Given the description of an element on the screen output the (x, y) to click on. 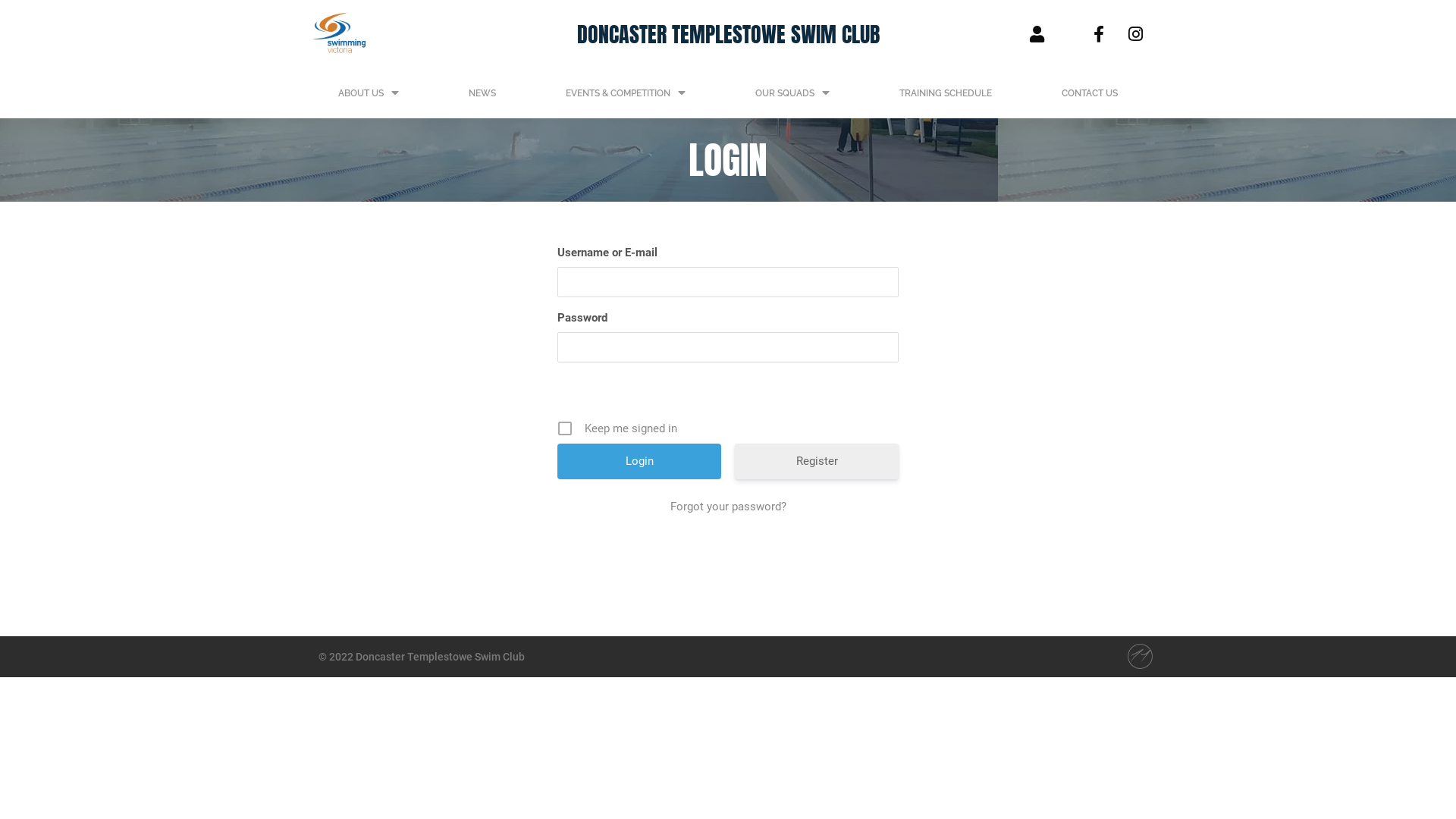
ABOUT US Element type: text (368, 92)
NEWS Element type: text (481, 92)
EVENTS & COMPETITION Element type: text (625, 92)
Register Element type: text (816, 461)
DONCASTER TEMPLESTOWE SWIM CLUB Element type: text (727, 34)
CONTACT US Element type: text (1089, 92)
Forgot your password? Element type: text (727, 506)
TRAINING SCHEDULE Element type: text (945, 92)
OUR SQUADS Element type: text (792, 92)
Login Element type: text (639, 461)
